Given the description of an element on the screen output the (x, y) to click on. 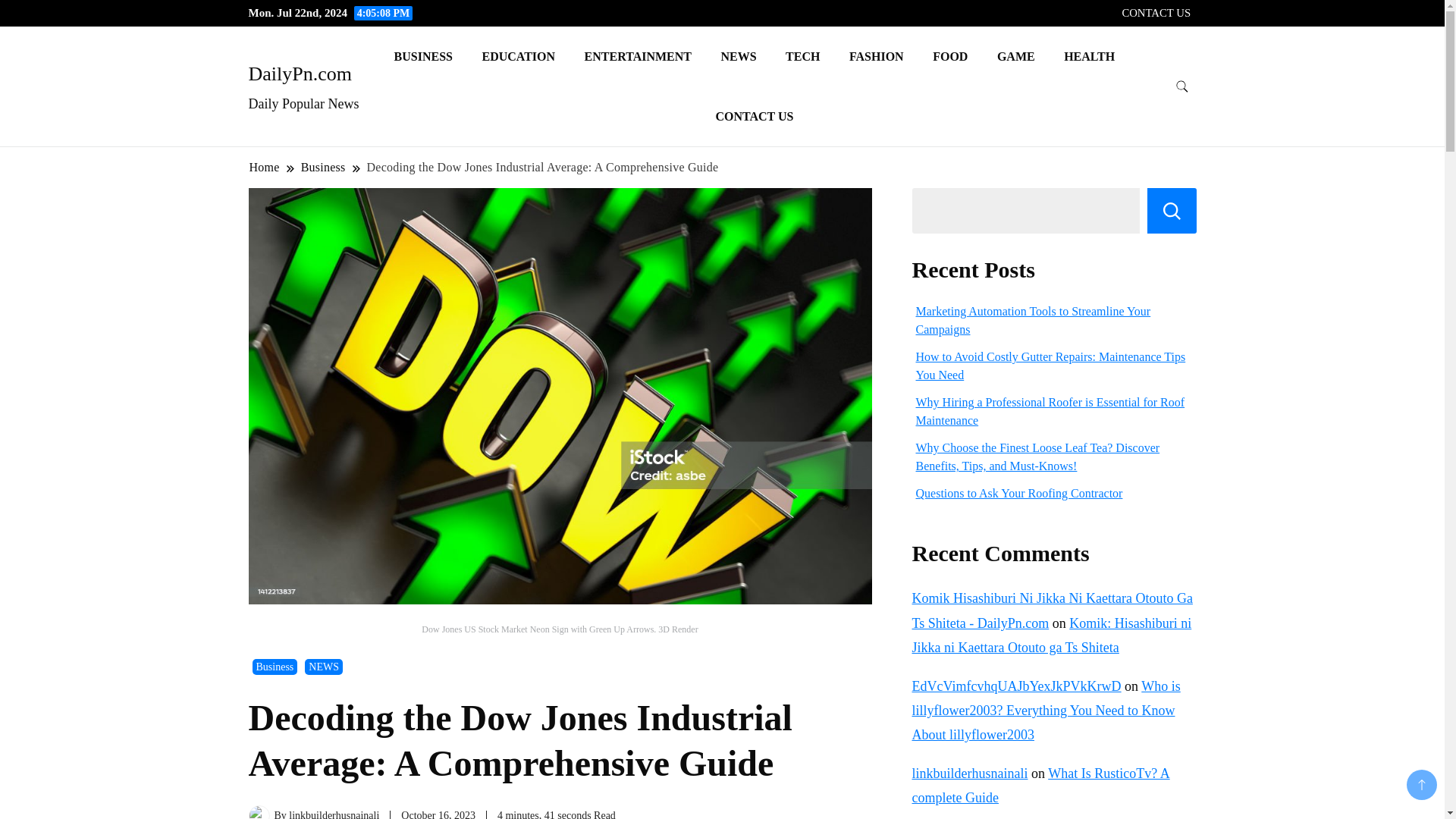
EDUCATION (517, 56)
ENTERTAINMENT (638, 56)
DailyPn.com (300, 74)
FASHION (876, 56)
TECH (802, 56)
Business (274, 666)
FOOD (949, 56)
NEWS (737, 56)
October 16, 2023 (438, 814)
Home (264, 166)
CONTACT US (753, 116)
BUSINESS (423, 56)
GAME (1016, 56)
NEWS (323, 666)
